Given the description of an element on the screen output the (x, y) to click on. 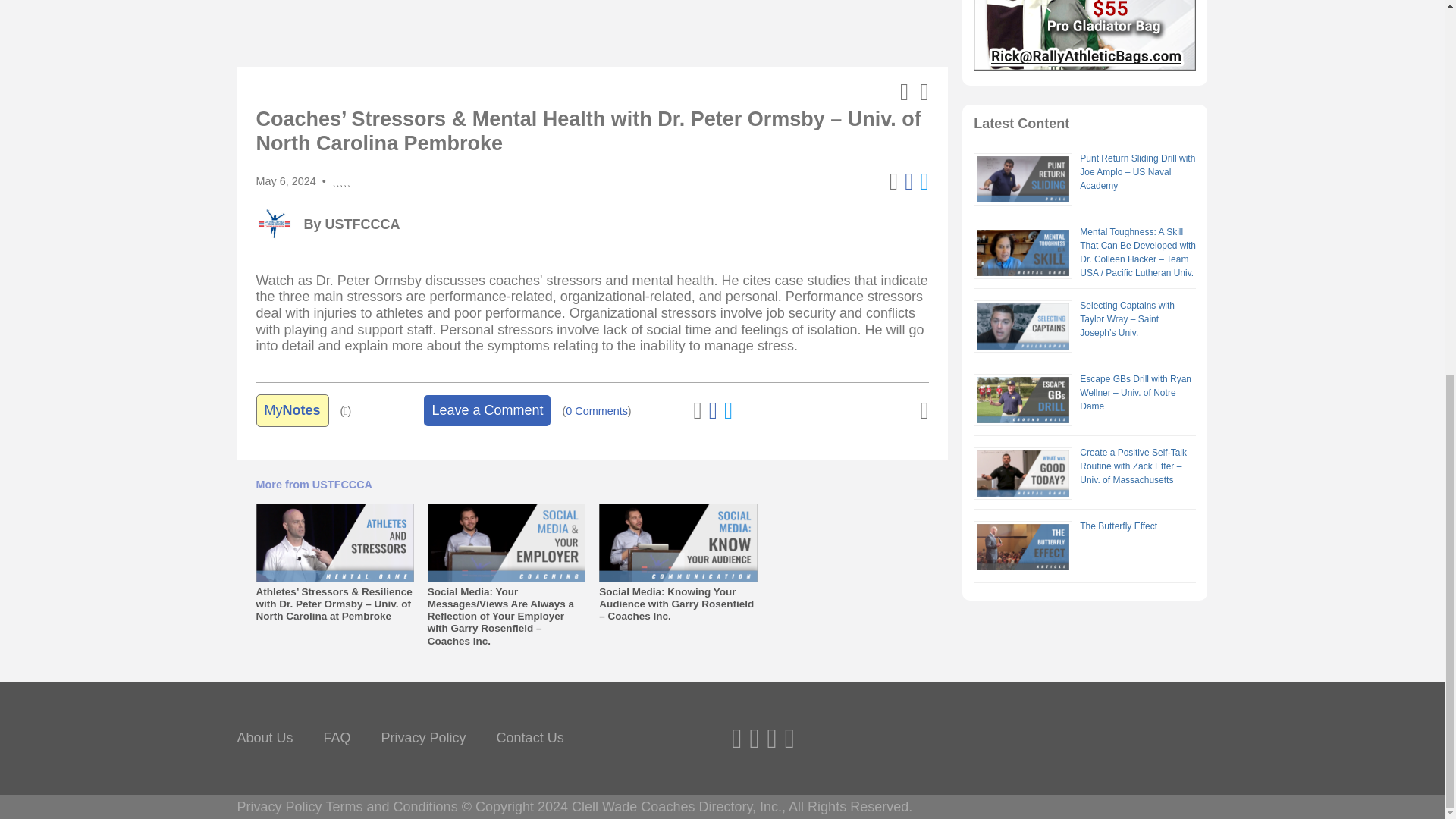
0 Comments (596, 410)
MyNotes (292, 410)
0 (596, 410)
Leave a Comment (486, 410)
Leave a Comment (486, 410)
MyNotes (292, 410)
